Given the description of an element on the screen output the (x, y) to click on. 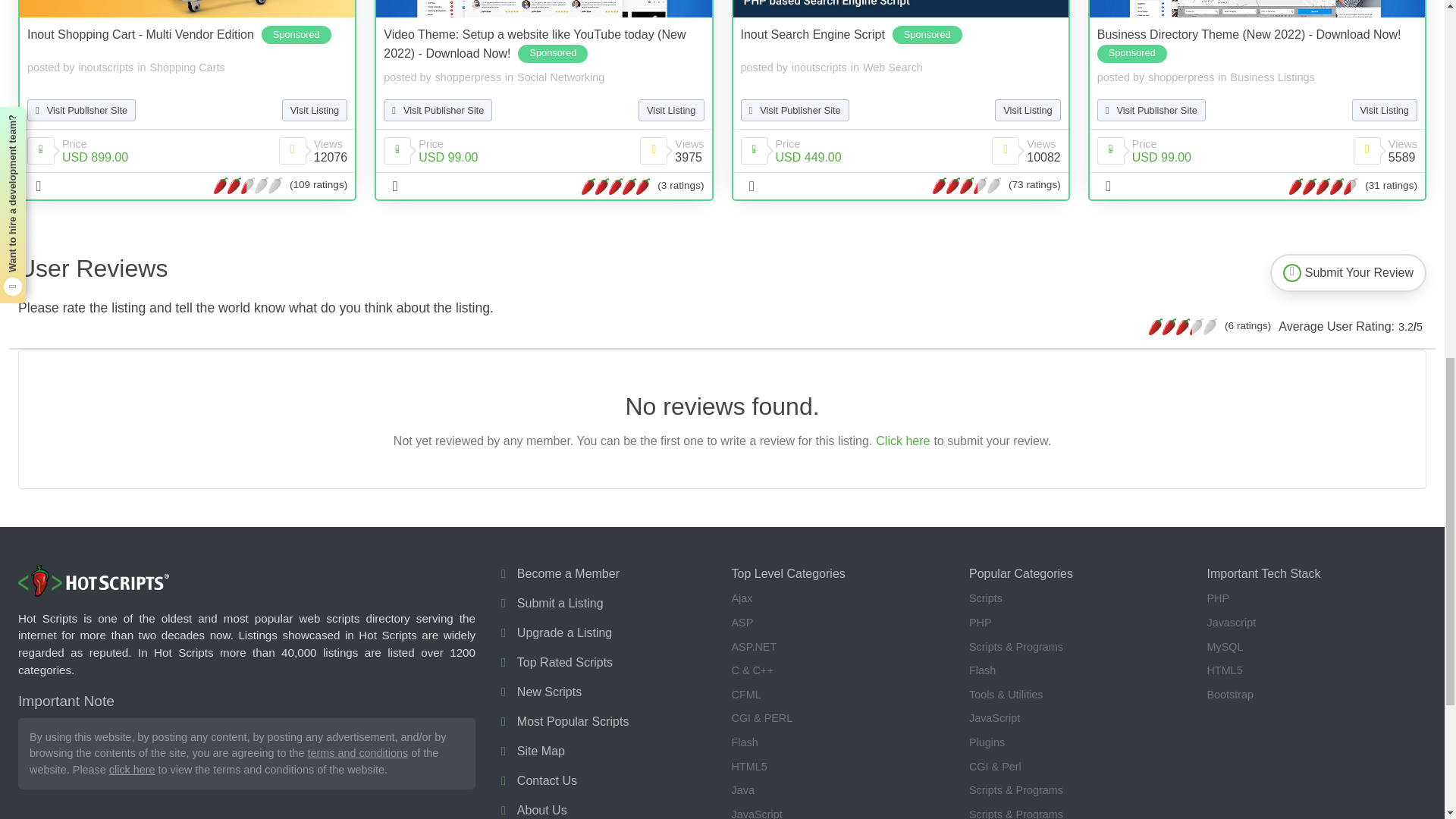
Hotscripts (93, 581)
Visit Listing - Inout Shopping Cart - Multi Vendor Edition (187, 8)
Visit Listing - Inout Search Engine Script (899, 8)
